Given the description of an element on the screen output the (x, y) to click on. 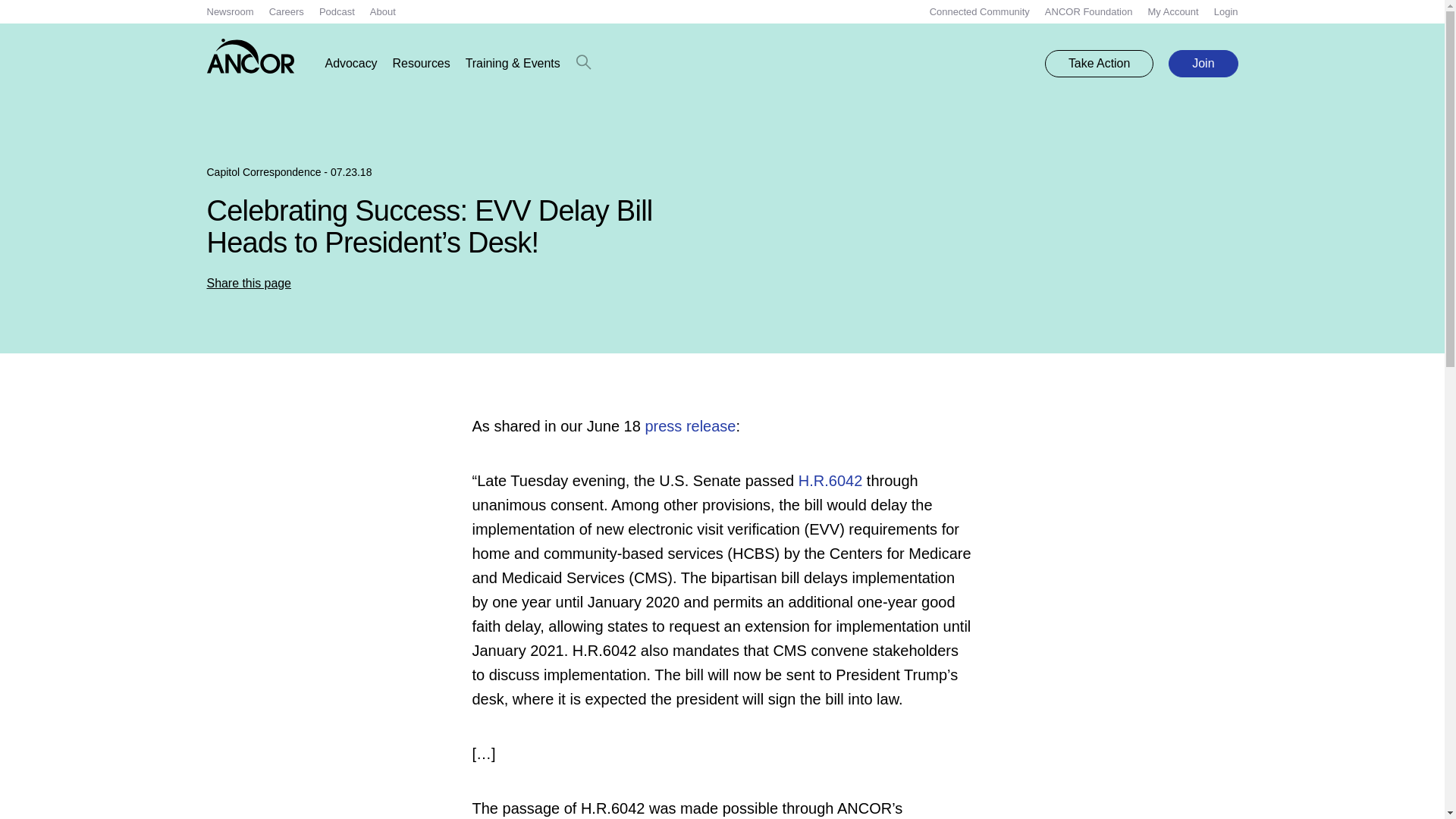
Login (1226, 11)
ANCOR Foundation (1088, 11)
Newsroom (229, 11)
Resources (421, 63)
Advocacy (350, 63)
Connected Community (979, 11)
Podcast (336, 11)
Careers (286, 11)
About (382, 11)
My Account (1172, 11)
Join (1203, 62)
Take Action (1099, 62)
